Given the description of an element on the screen output the (x, y) to click on. 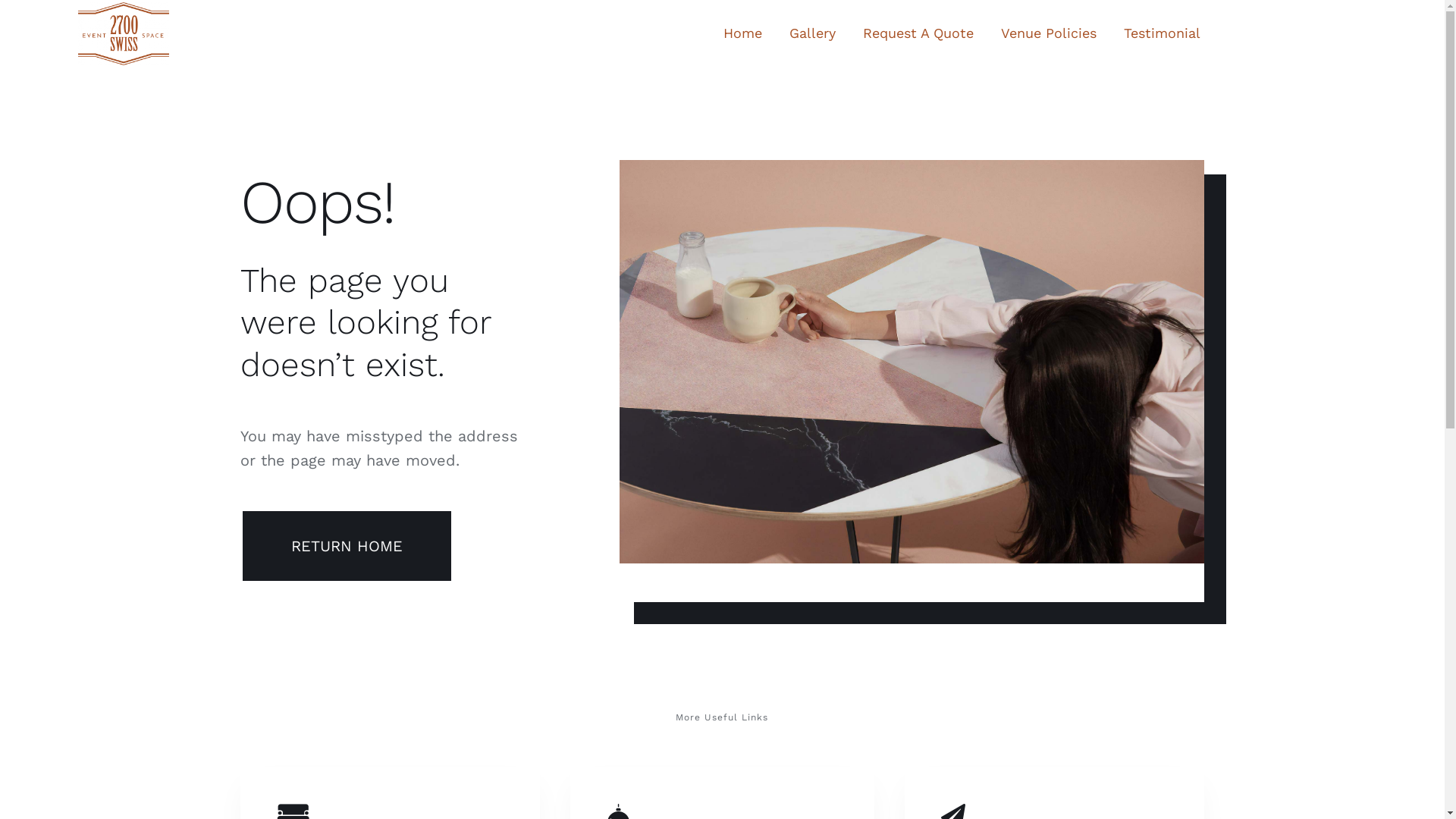
Venue Policies Element type: text (1048, 34)
Home Element type: text (742, 34)
Elegant room table Element type: hover (911, 361)
Testimonial Element type: text (1161, 34)
Gallery Element type: text (812, 34)
RETURN HOME Element type: text (346, 545)
Request A Quote Element type: text (917, 34)
